Given the description of an element on the screen output the (x, y) to click on. 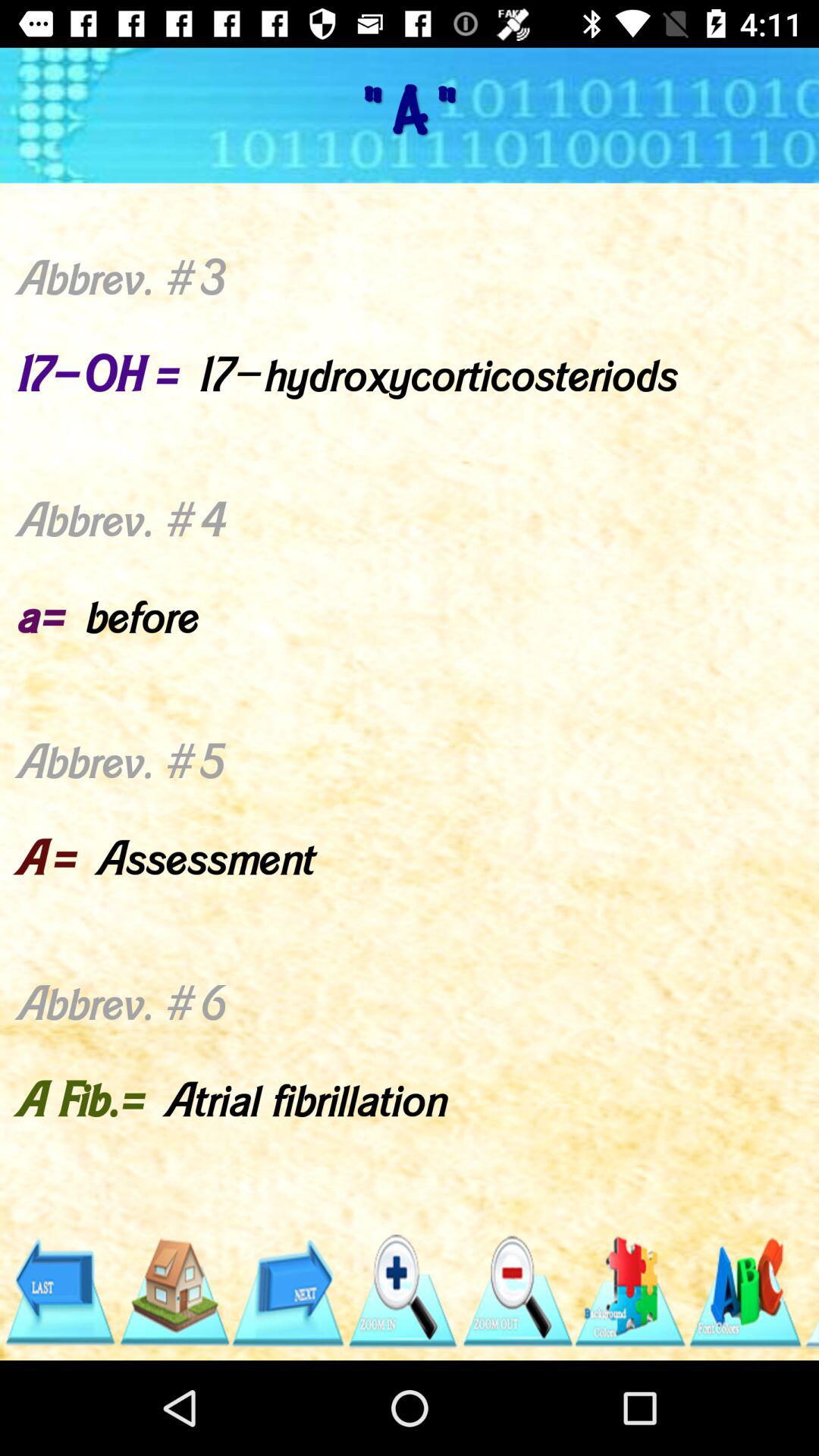
zoom out (516, 1291)
